Given the description of an element on the screen output the (x, y) to click on. 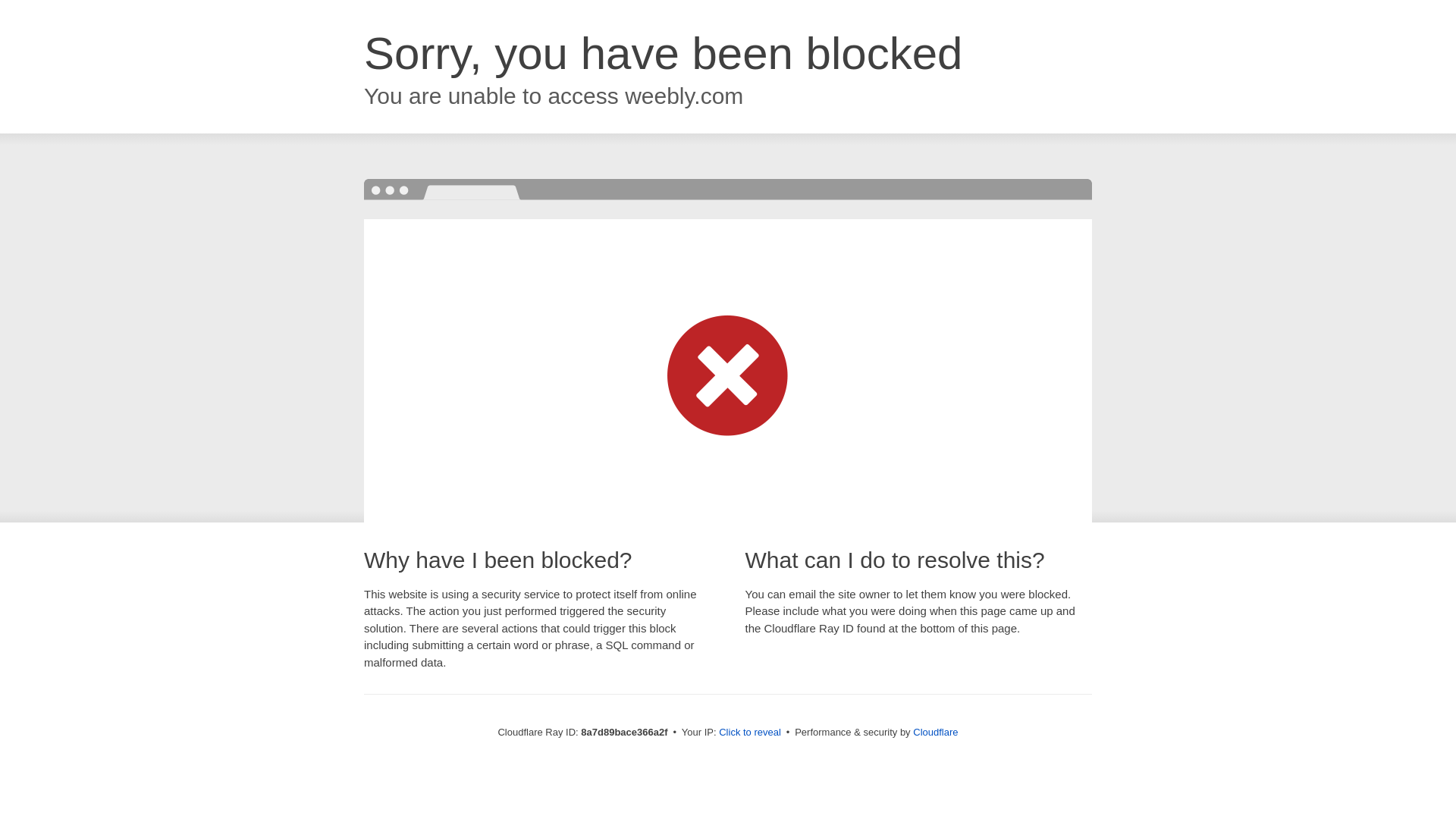
Click to reveal (749, 732)
Cloudflare (935, 731)
